Given the description of an element on the screen output the (x, y) to click on. 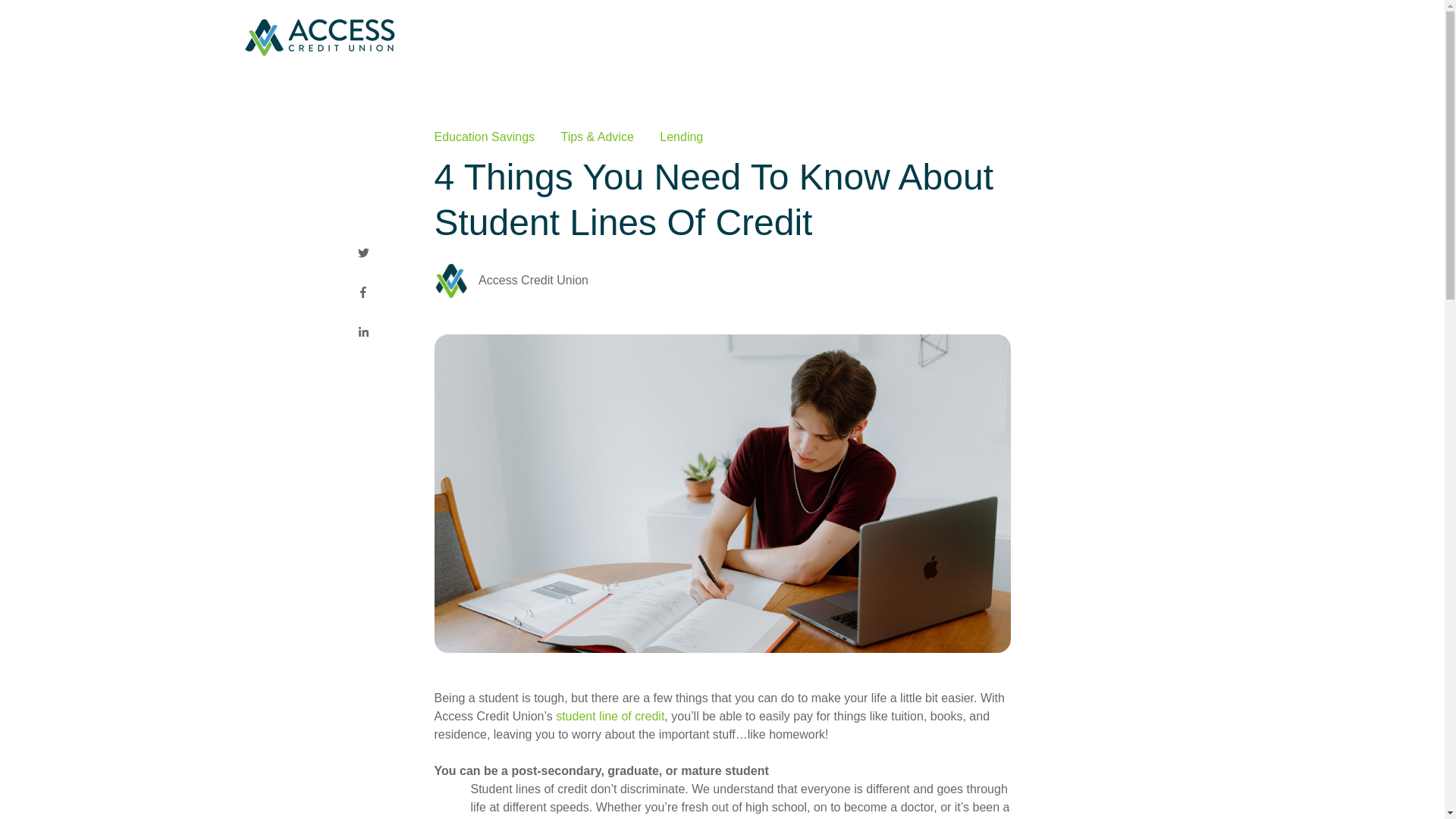
Education Savings Element type: text (483, 137)
AccessCU_Horizontal_Colour_pws-1 Element type: hover (319, 37)
Tips & Advice Element type: text (596, 137)
Share this blog post on Twitter Element type: text (362, 254)
Share this blog post on LinkedIn Element type: text (362, 333)
Access Credit Union Element type: text (533, 279)
Share this blog post on Facebook Element type: text (362, 293)
Lending Element type: text (680, 137)
student line of credit Element type: text (609, 715)
